Given the description of an element on the screen output the (x, y) to click on. 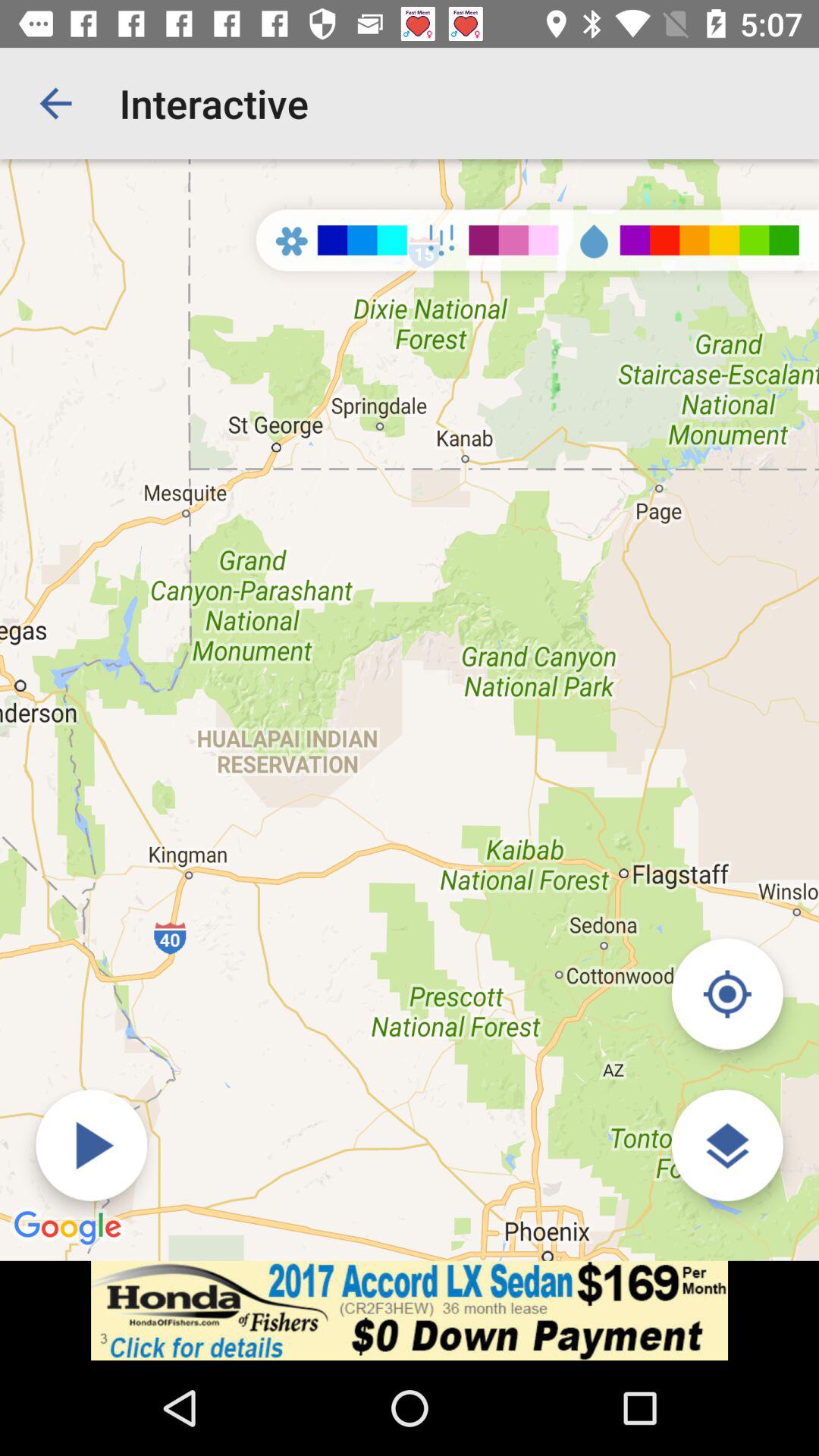
click to view details (727, 1145)
